Given the description of an element on the screen output the (x, y) to click on. 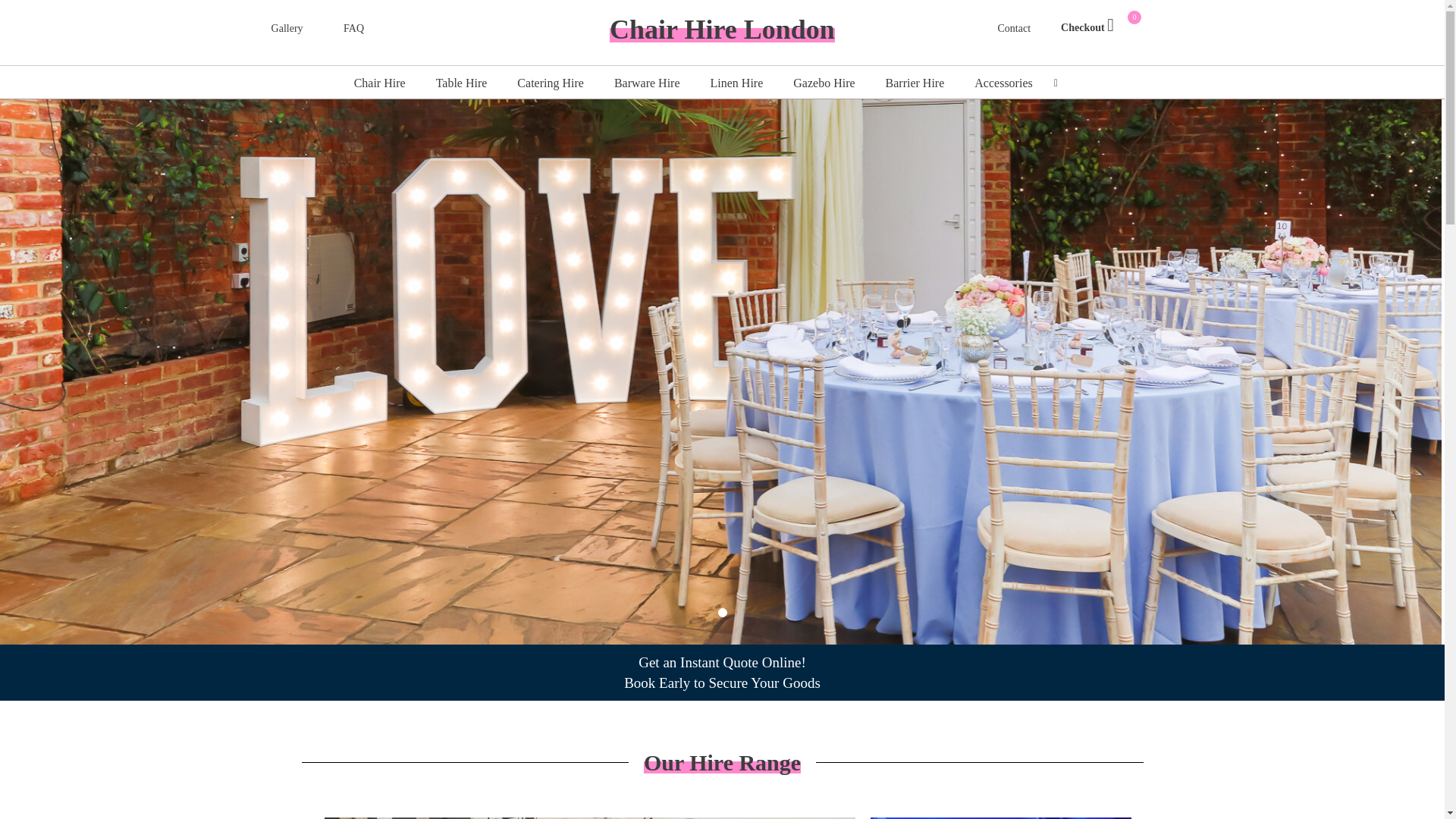
FAQ (353, 28)
Catering Hire (550, 82)
Gallery (286, 28)
Barware Hire (646, 82)
Chair Hire London (722, 29)
Table Hire (461, 82)
Contact (1013, 28)
Chair Hire (379, 82)
